Given the description of an element on the screen output the (x, y) to click on. 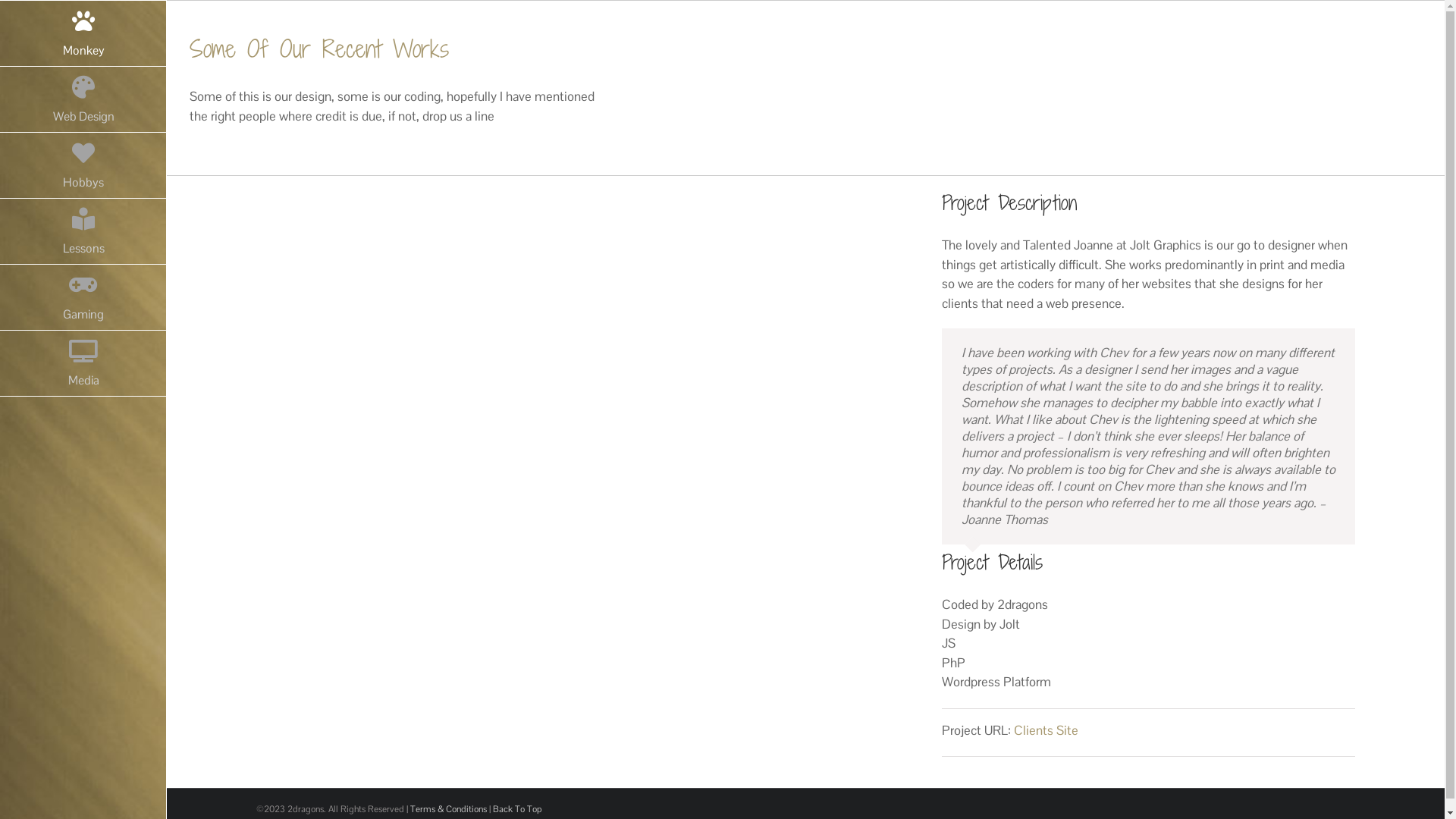
Back To Top Element type: text (517, 809)
Media Element type: text (83, 363)
Lessons Element type: text (83, 231)
Hobbys Element type: text (83, 165)
Gaming Element type: text (83, 297)
Clients Site Element type: text (1045, 729)
Terms & Conditions Element type: text (447, 809)
Monkey Element type: text (83, 33)
Web Design Element type: text (83, 99)
